Given the description of an element on the screen output the (x, y) to click on. 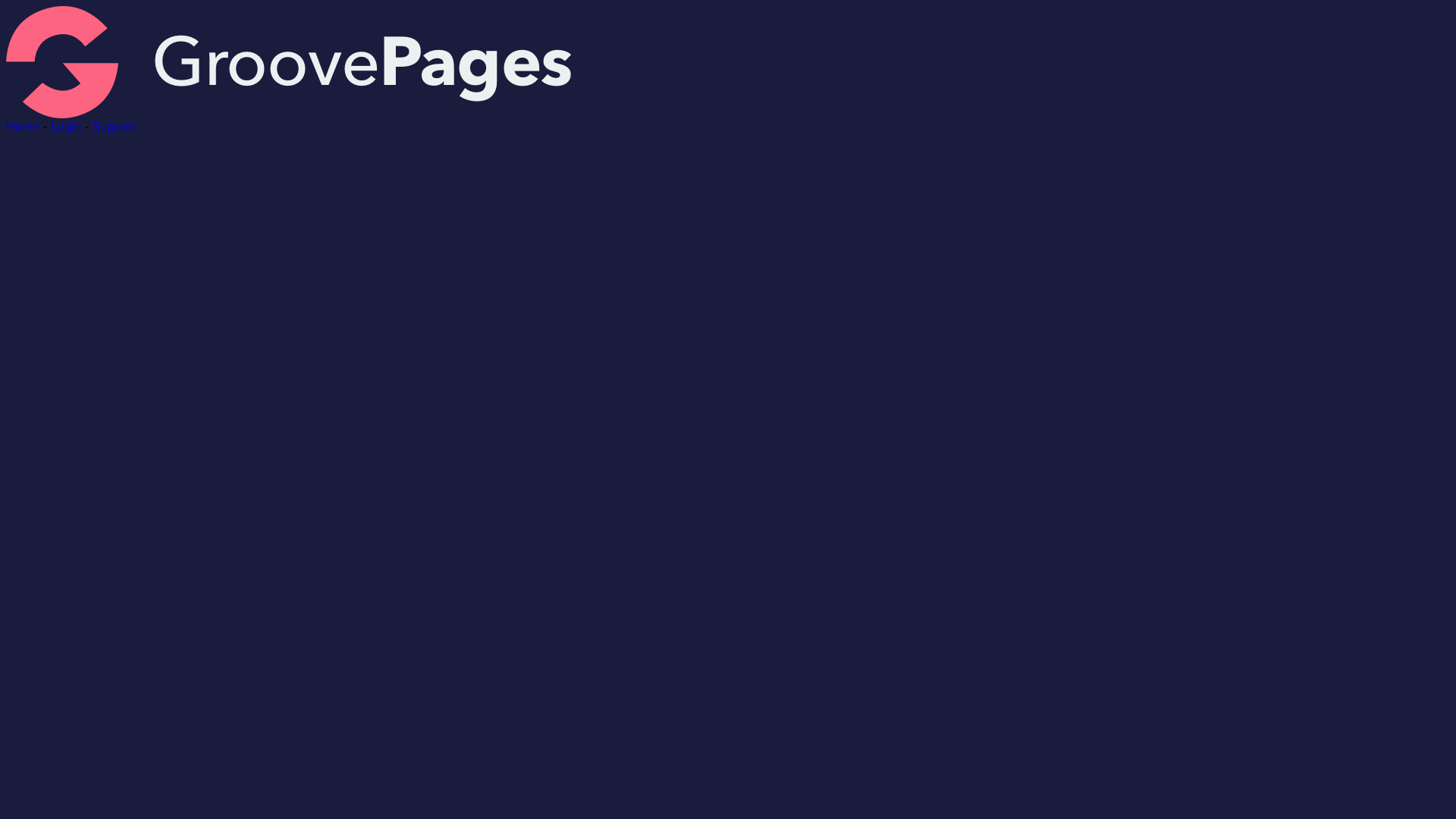
Support Element type: text (114, 126)
Login Element type: text (65, 126)
Home Element type: text (22, 126)
